Given the description of an element on the screen output the (x, y) to click on. 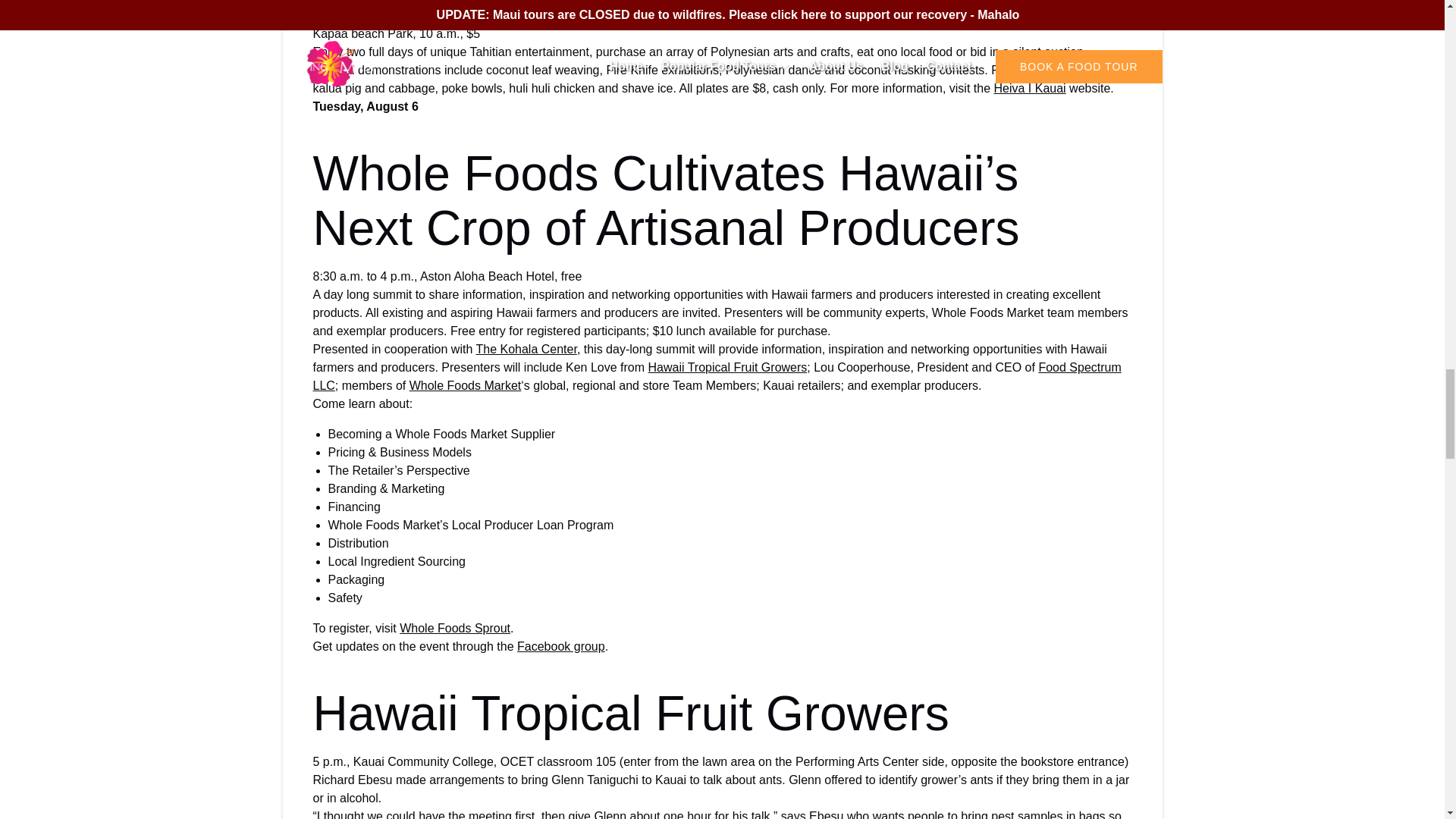
The Kohala Center (526, 349)
Whole Foods Sprout (454, 627)
Facebook group (560, 645)
Heiva I Kauai (1028, 88)
Whole Foods Market (465, 385)
Hawaii Tropical Fruit Growers (726, 367)
Food Spectrum LLC (717, 376)
